Given the description of an element on the screen output the (x, y) to click on. 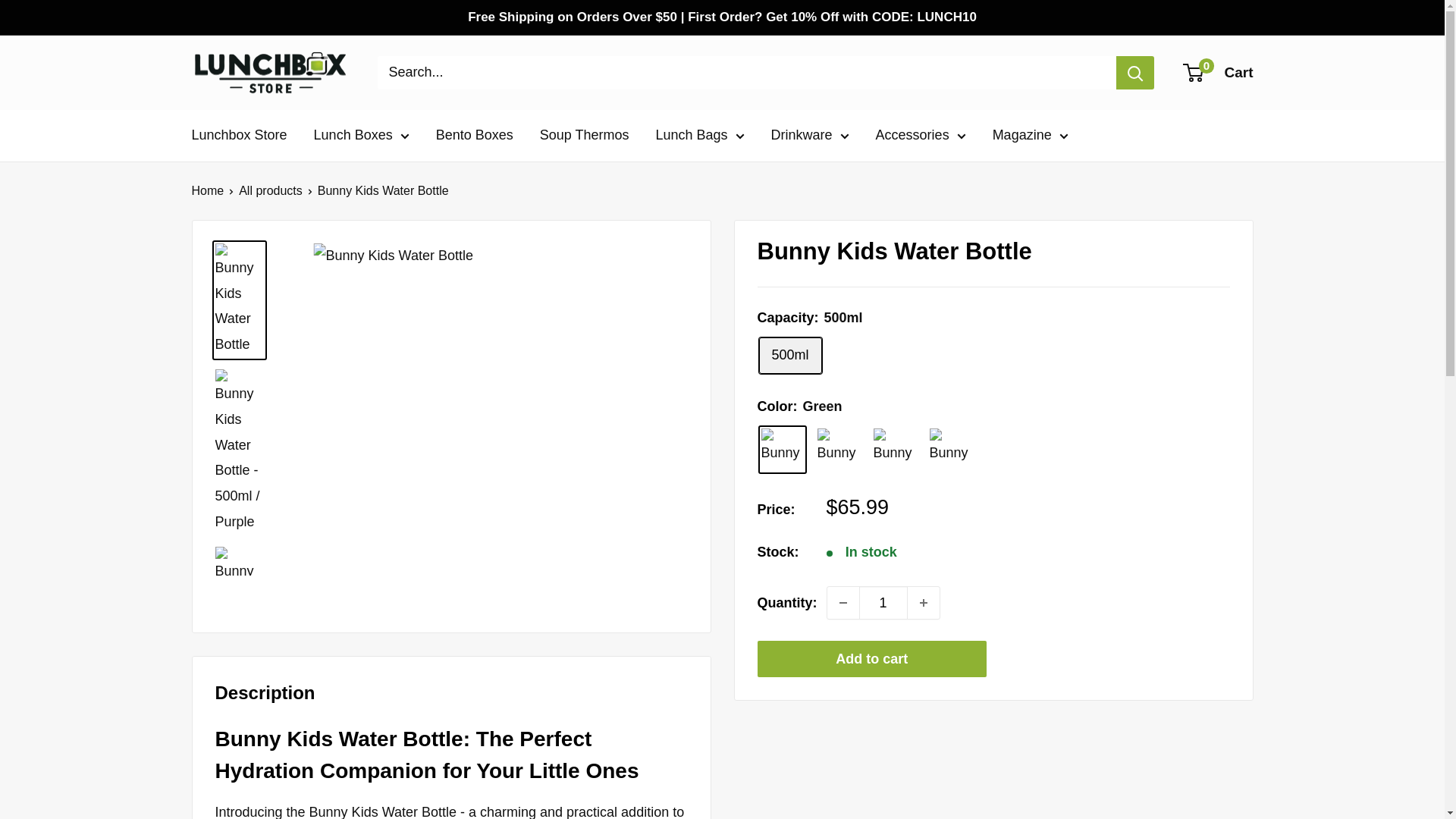
Increase quantity by 1 (923, 603)
1 (883, 603)
Purple (894, 449)
Green (782, 449)
Decrease quantity by 1 (843, 603)
500ml (789, 355)
Blue Grey (950, 449)
Blue (838, 449)
